Given the description of an element on the screen output the (x, y) to click on. 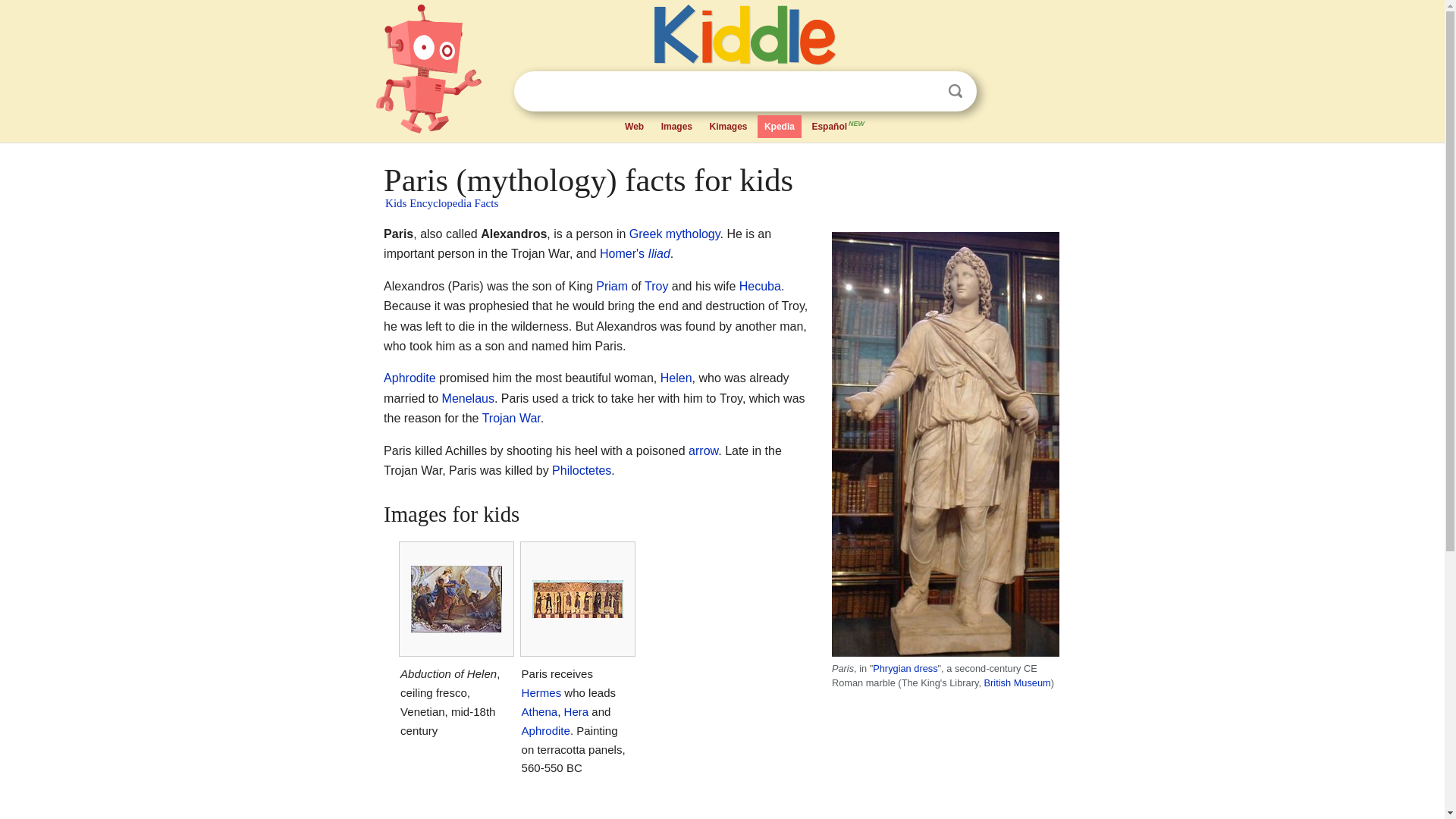
Iliad (658, 253)
Greek mythology (674, 233)
British Museum (1017, 682)
Search (955, 91)
Helen (677, 377)
Kimages (727, 126)
Greek mythology (674, 233)
Kpedia (779, 126)
Images (675, 126)
Arrow (702, 450)
